Given the description of an element on the screen output the (x, y) to click on. 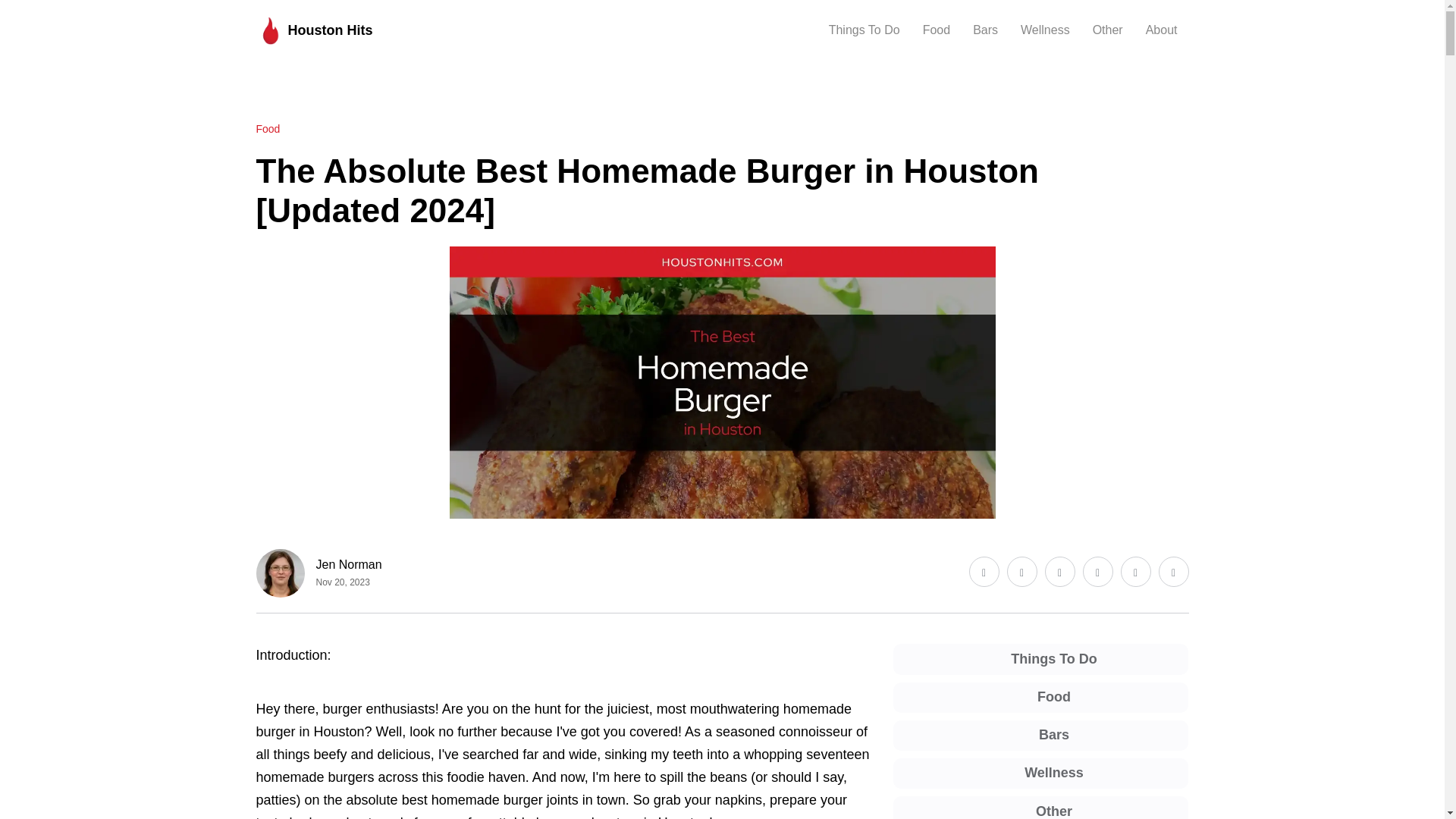
Things To Do (863, 30)
Food (268, 128)
Houston Hits (314, 30)
Jen Norman (348, 564)
